Given the description of an element on the screen output the (x, y) to click on. 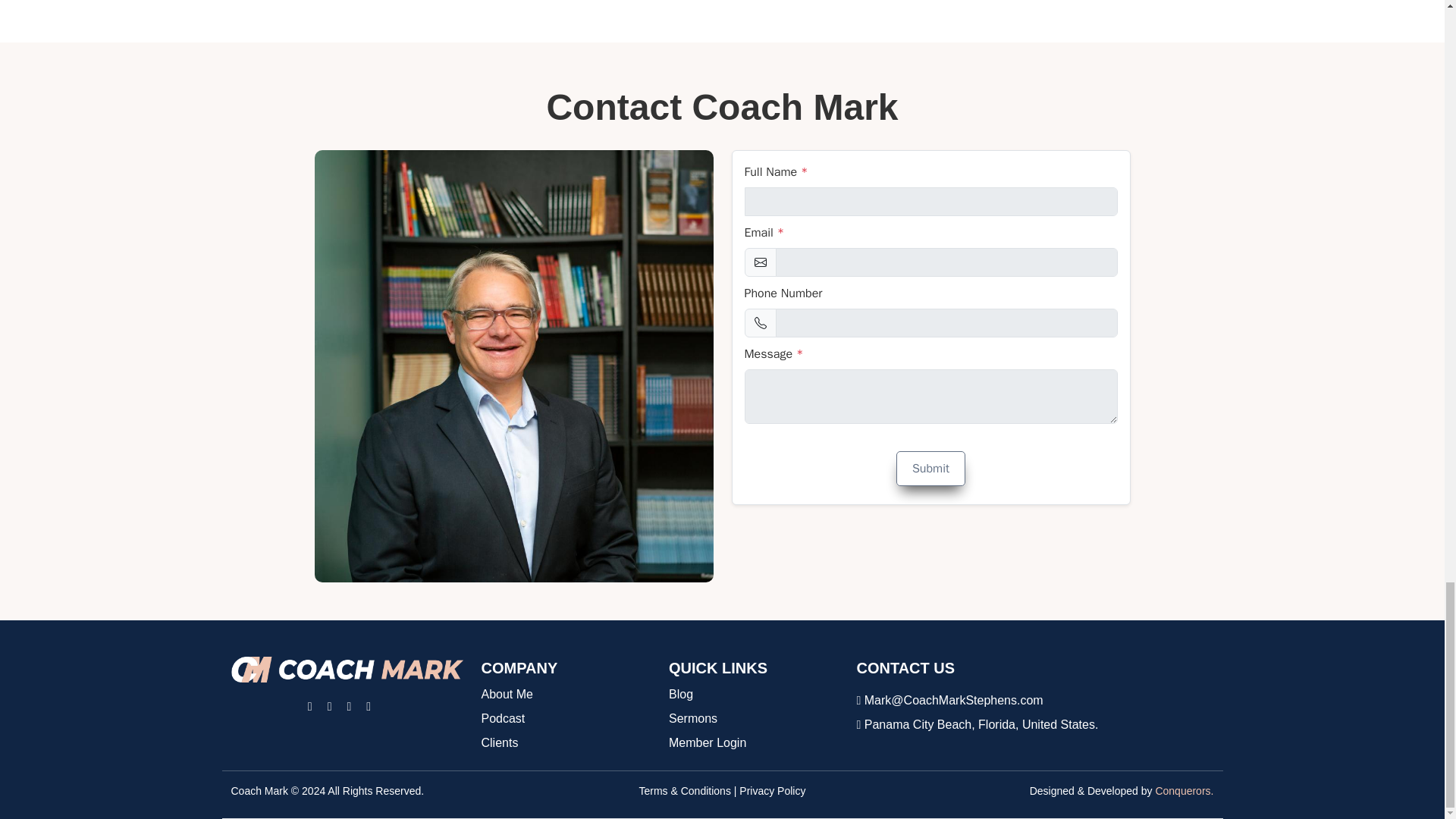
Podcast (502, 719)
Clients (499, 742)
Submit (930, 468)
About Me (506, 694)
